Given the description of an element on the screen output the (x, y) to click on. 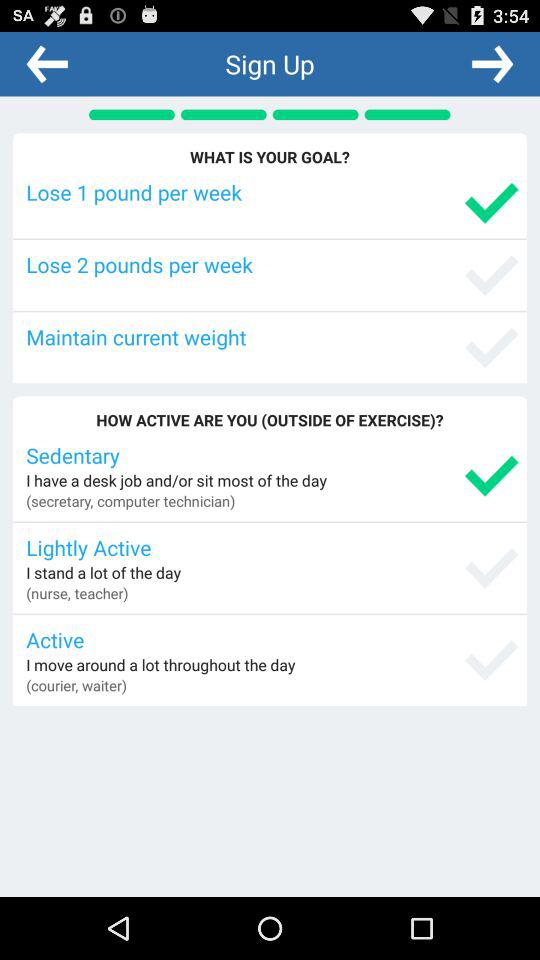
turn on icon next to the sign up icon (492, 63)
